Given the description of an element on the screen output the (x, y) to click on. 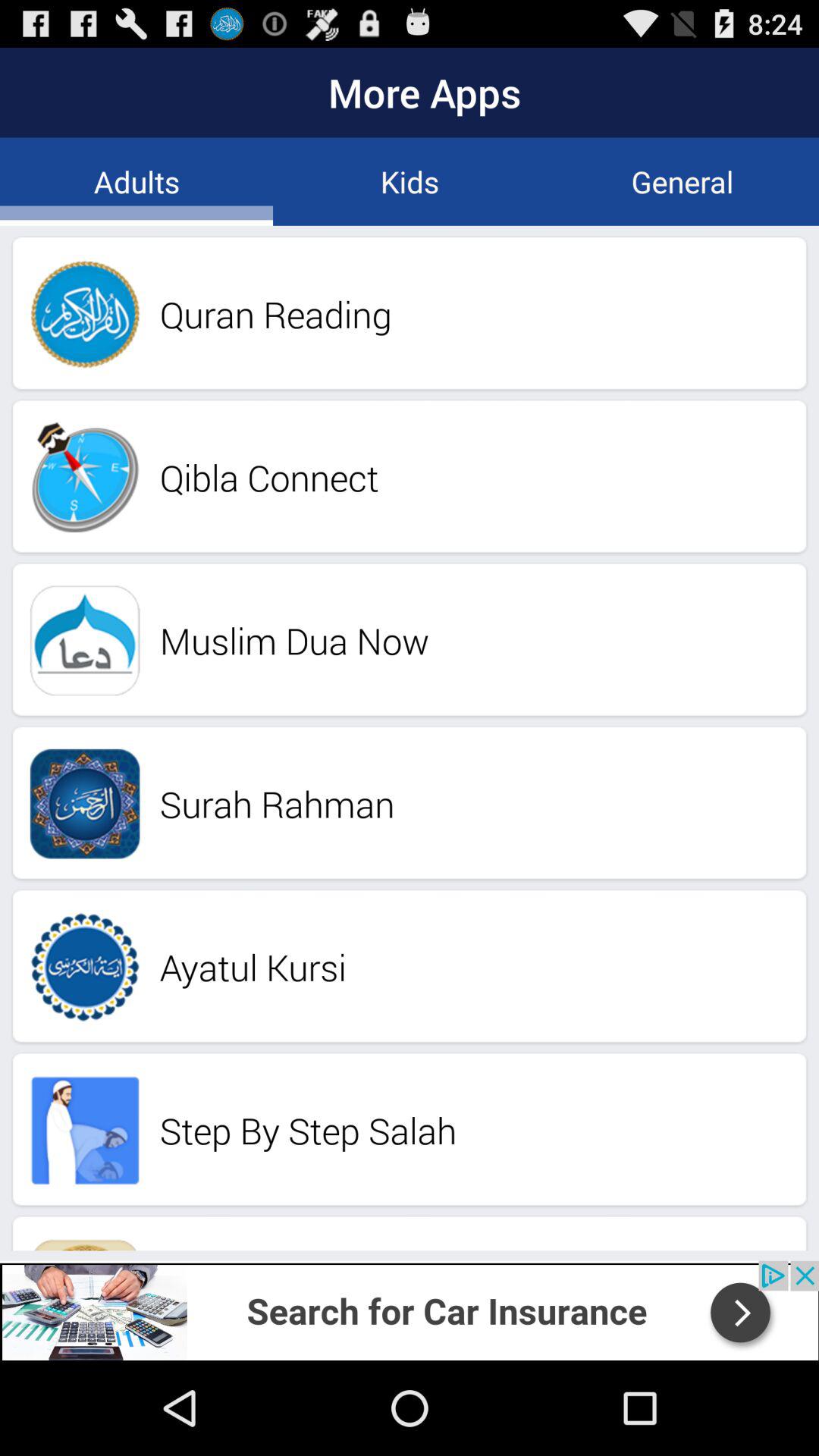
select the add image (409, 1310)
